Given the description of an element on the screen output the (x, y) to click on. 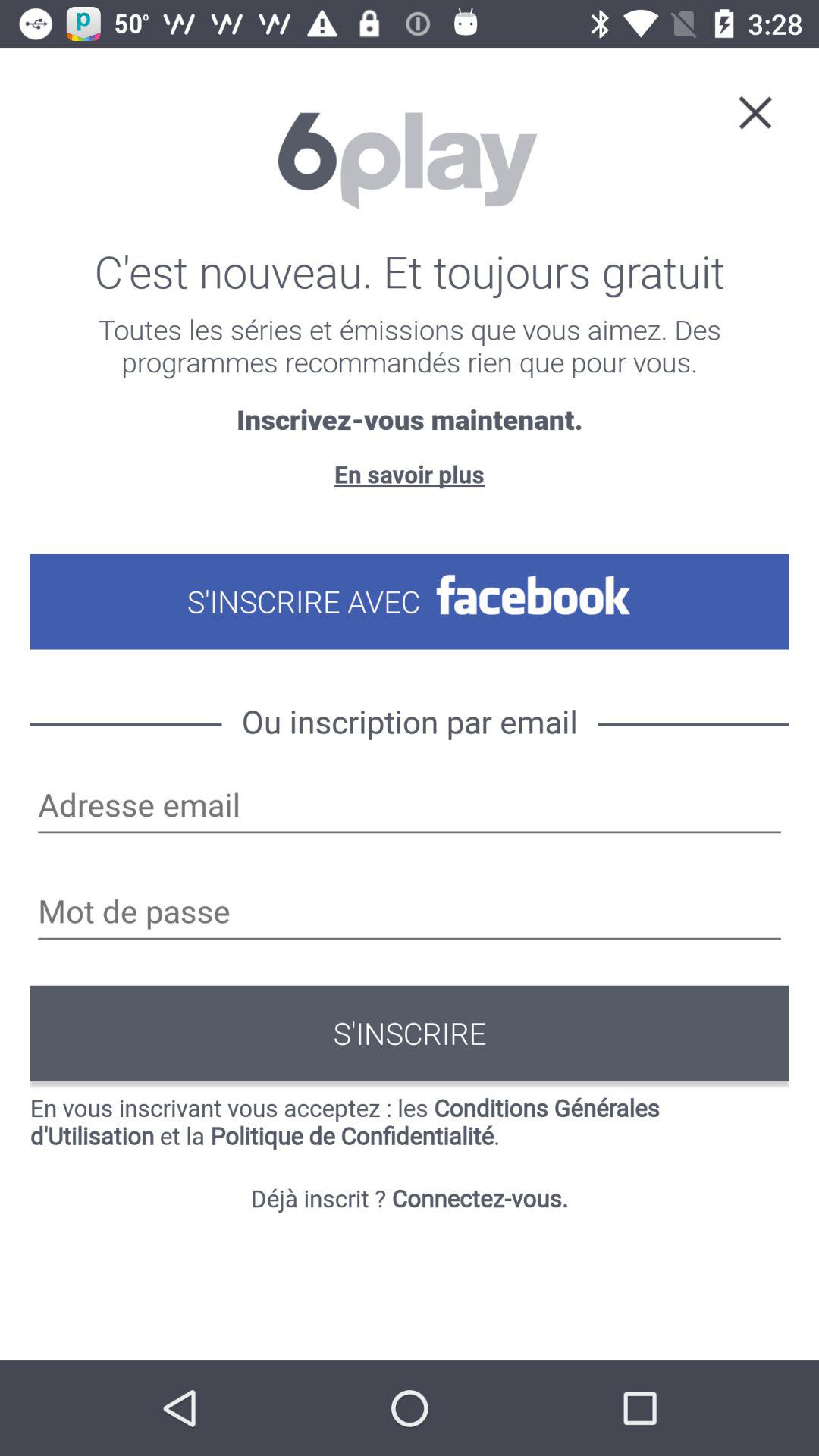
select icon below the en vous inscrivant (409, 1197)
